Given the description of an element on the screen output the (x, y) to click on. 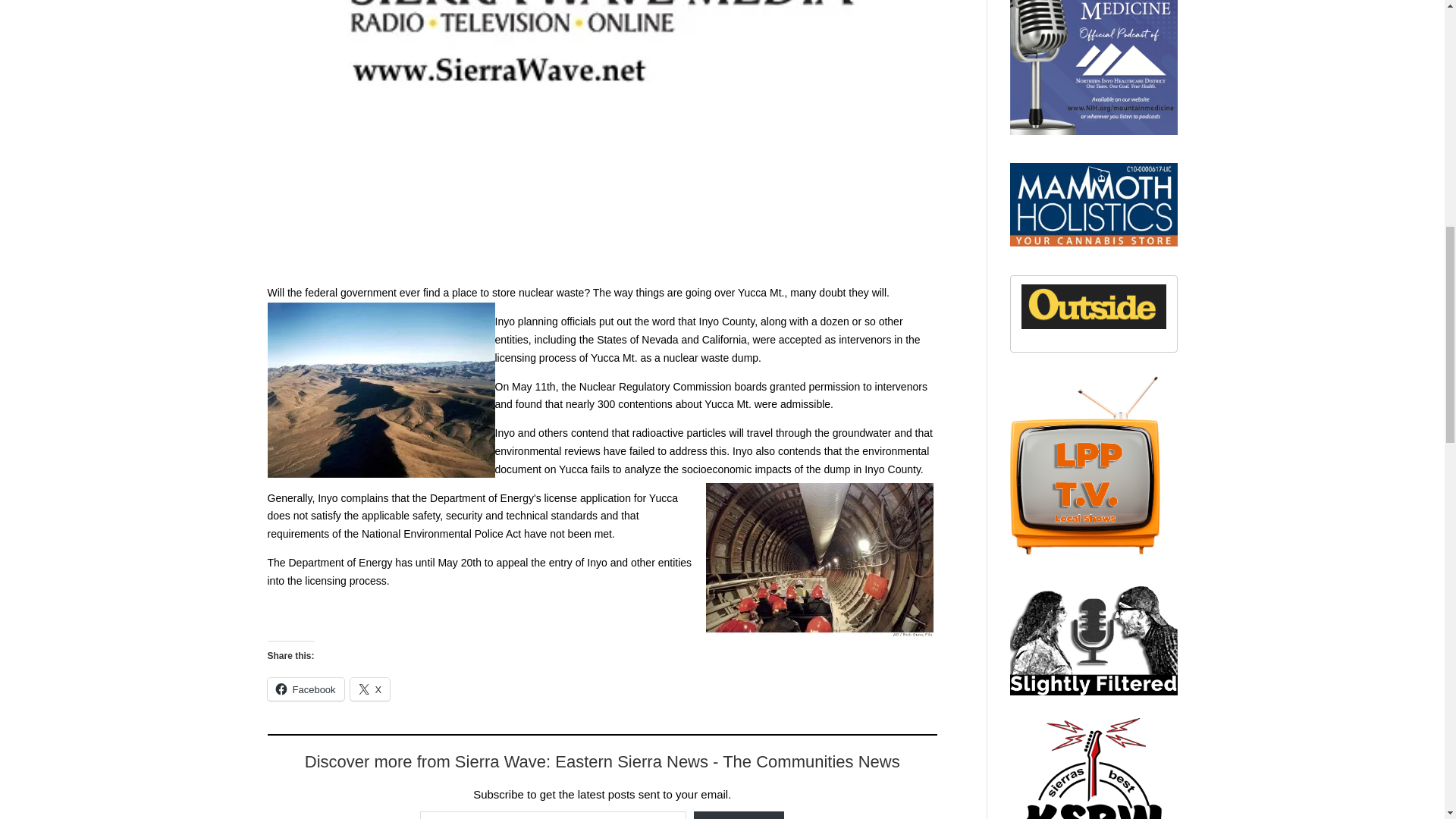
Subscribe (739, 815)
Click to share on Facebook (304, 689)
Click to share on X (370, 689)
Facebook (304, 689)
X (370, 689)
